Given the description of an element on the screen output the (x, y) to click on. 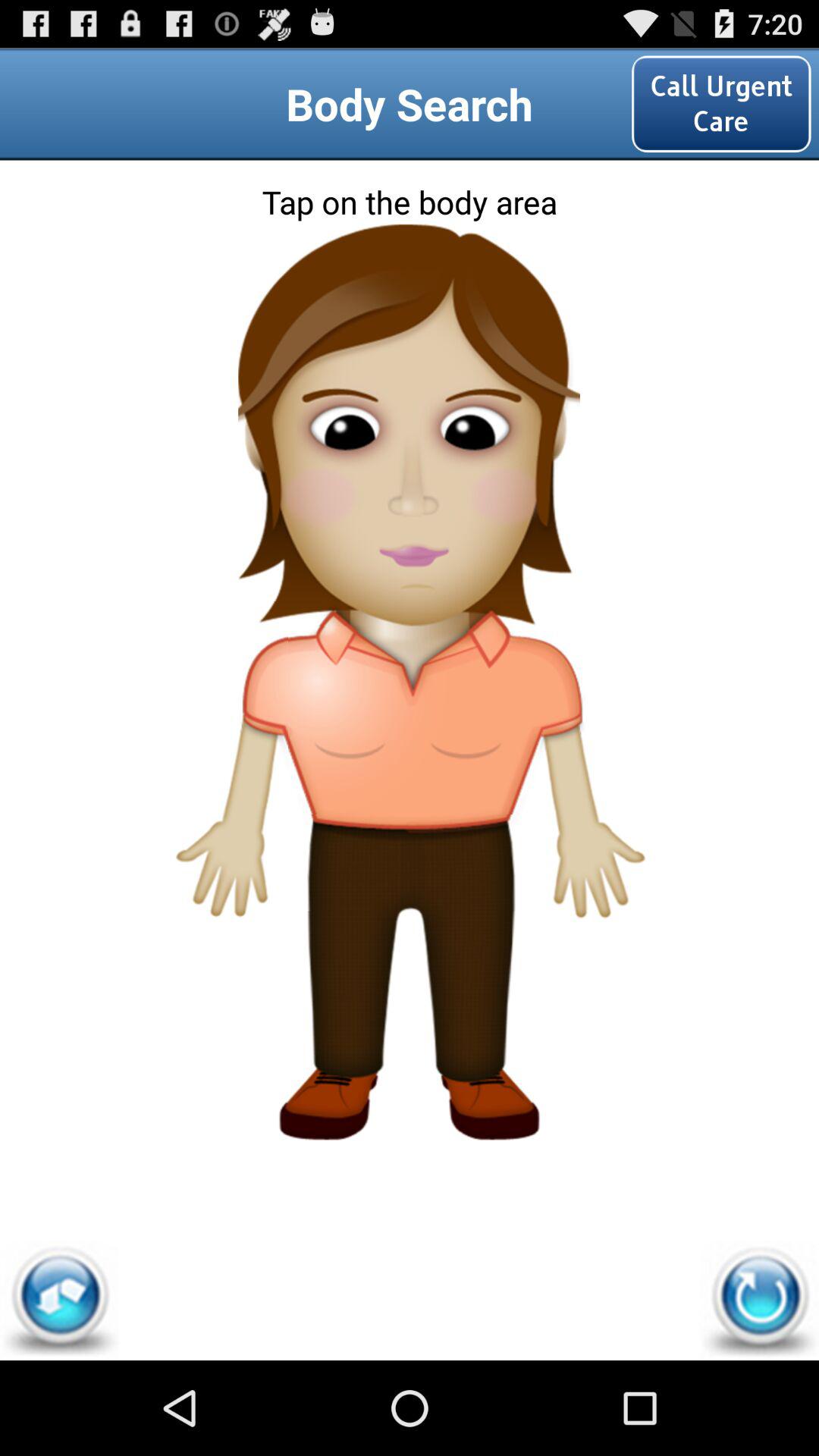
tap icon on the left (231, 771)
